Given the description of an element on the screen output the (x, y) to click on. 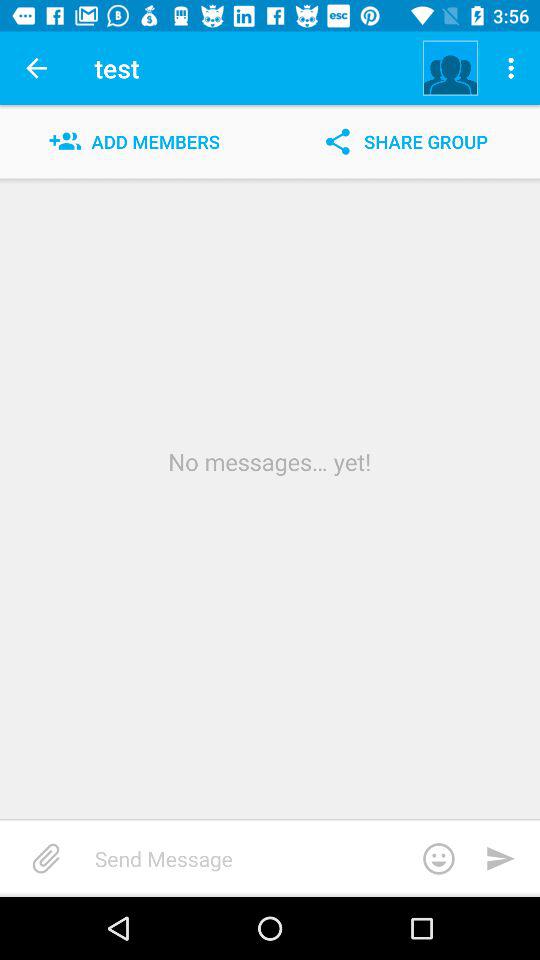
turn on the item next to test icon (36, 68)
